Given the description of an element on the screen output the (x, y) to click on. 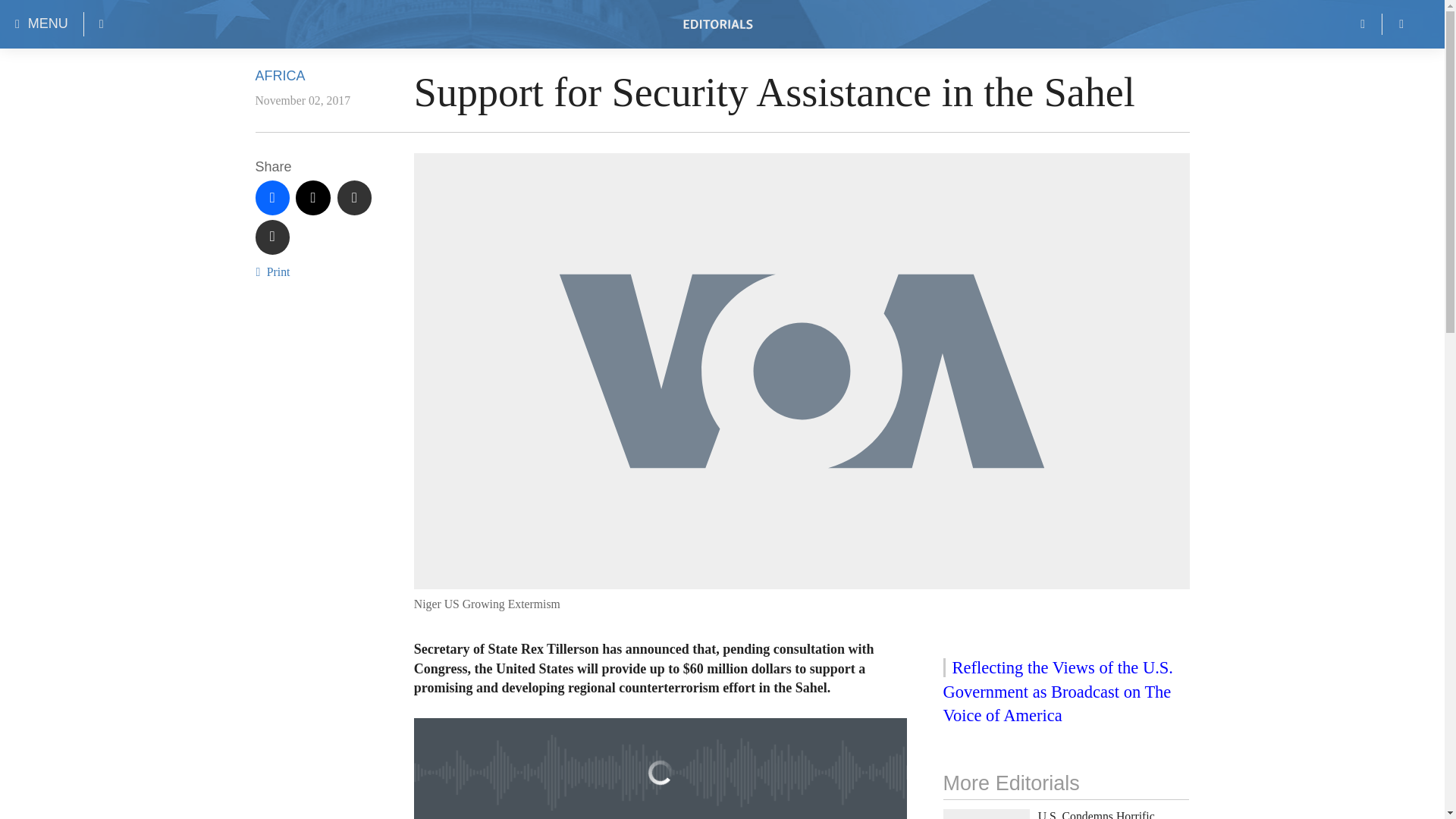
AFRICA (279, 75)
text (354, 197)
